Given the description of an element on the screen output the (x, y) to click on. 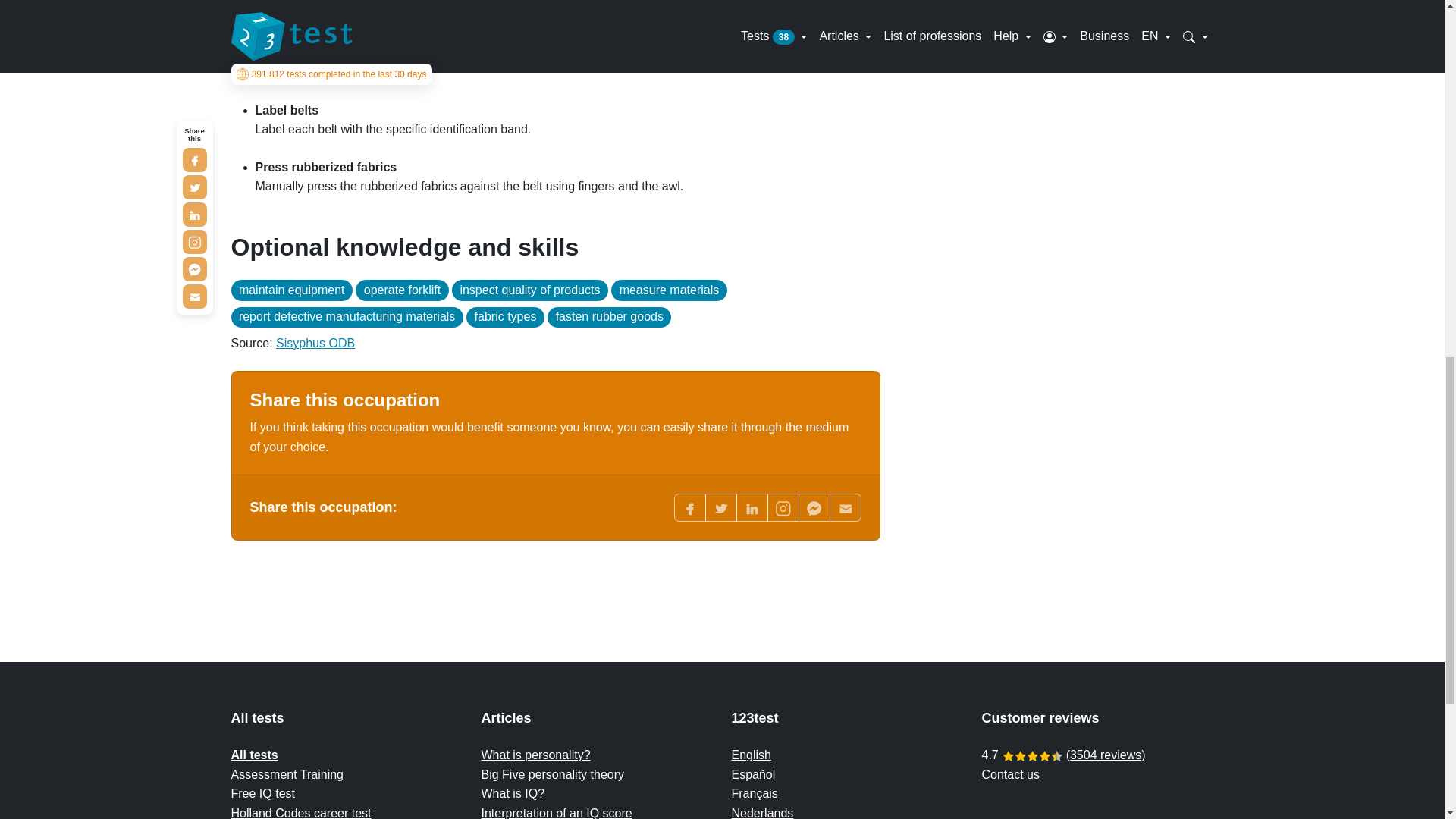
Sisyphus ODB (315, 342)
Instagram (783, 507)
 Twitter (720, 507)
 LinkedIn (751, 507)
 Facebook (688, 507)
